Given the description of an element on the screen output the (x, y) to click on. 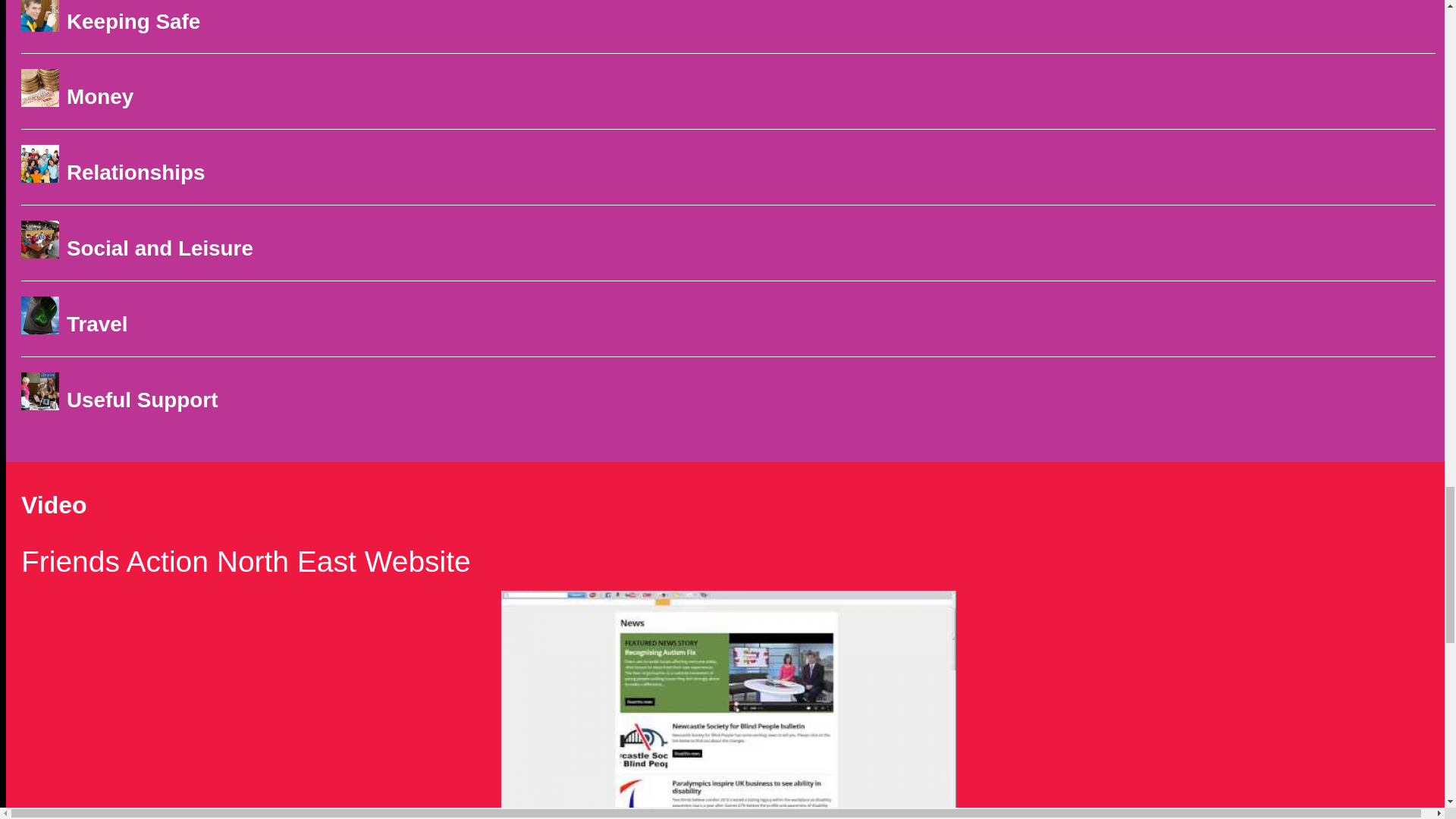
Keeping Safe (133, 21)
